Given the description of an element on the screen output the (x, y) to click on. 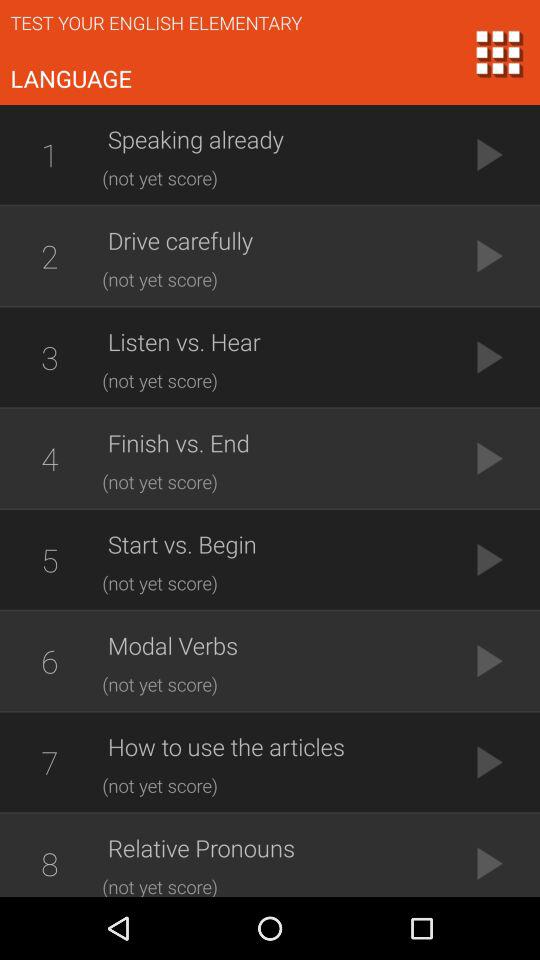
turn off how to use icon (275, 746)
